Given the description of an element on the screen output the (x, y) to click on. 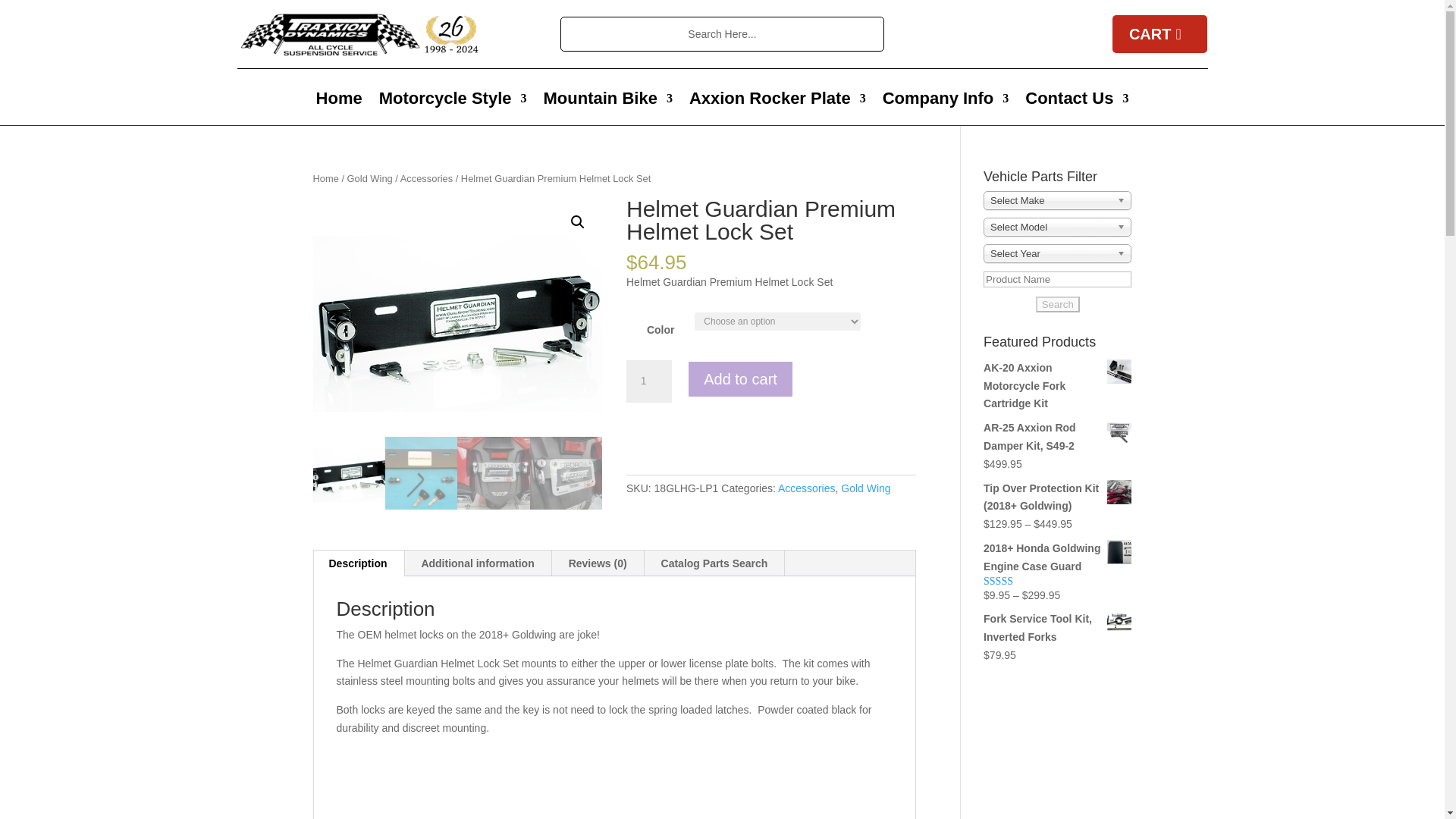
Axxion Rocker Plate (777, 101)
PayPal (770, 440)
helmet-guardian-premium-helmet-security-lock-9 (457, 317)
Home (338, 101)
Mountain Bike (607, 101)
Company Info (945, 101)
1 (648, 381)
Motorcycle Style (452, 101)
Contact Us (1076, 101)
Search (24, 16)
traxxion-banner-email-1-smaller-wreath (358, 33)
Search (1057, 304)
CART (1160, 34)
